Given the description of an element on the screen output the (x, y) to click on. 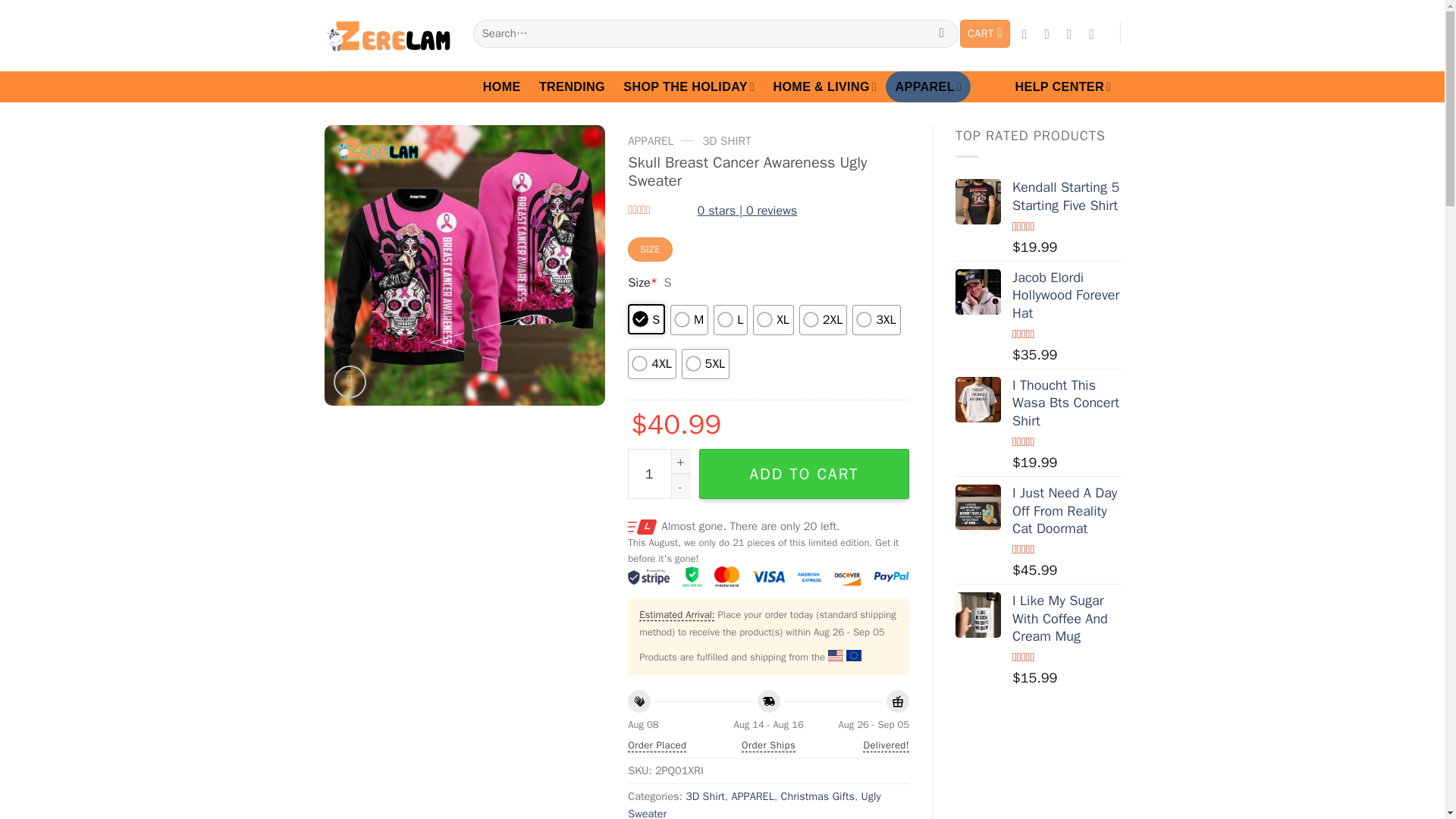
Cart (984, 33)
Zerelam - Best Clothes For Your Family (386, 35)
I Thoucht This Wasa Bts Concert Shirt (978, 399)
I Just Need A Day Off From Reality Cat Doormat (978, 506)
I Like My Sugar With Coffee And Cream Mug (978, 615)
Skull Breast Cancer Awareness Ugly Sweater (464, 264)
APPAREL (928, 86)
SHOP THE HOLIDAY (688, 86)
1 (658, 473)
HOME (501, 86)
